Given the description of an element on the screen output the (x, y) to click on. 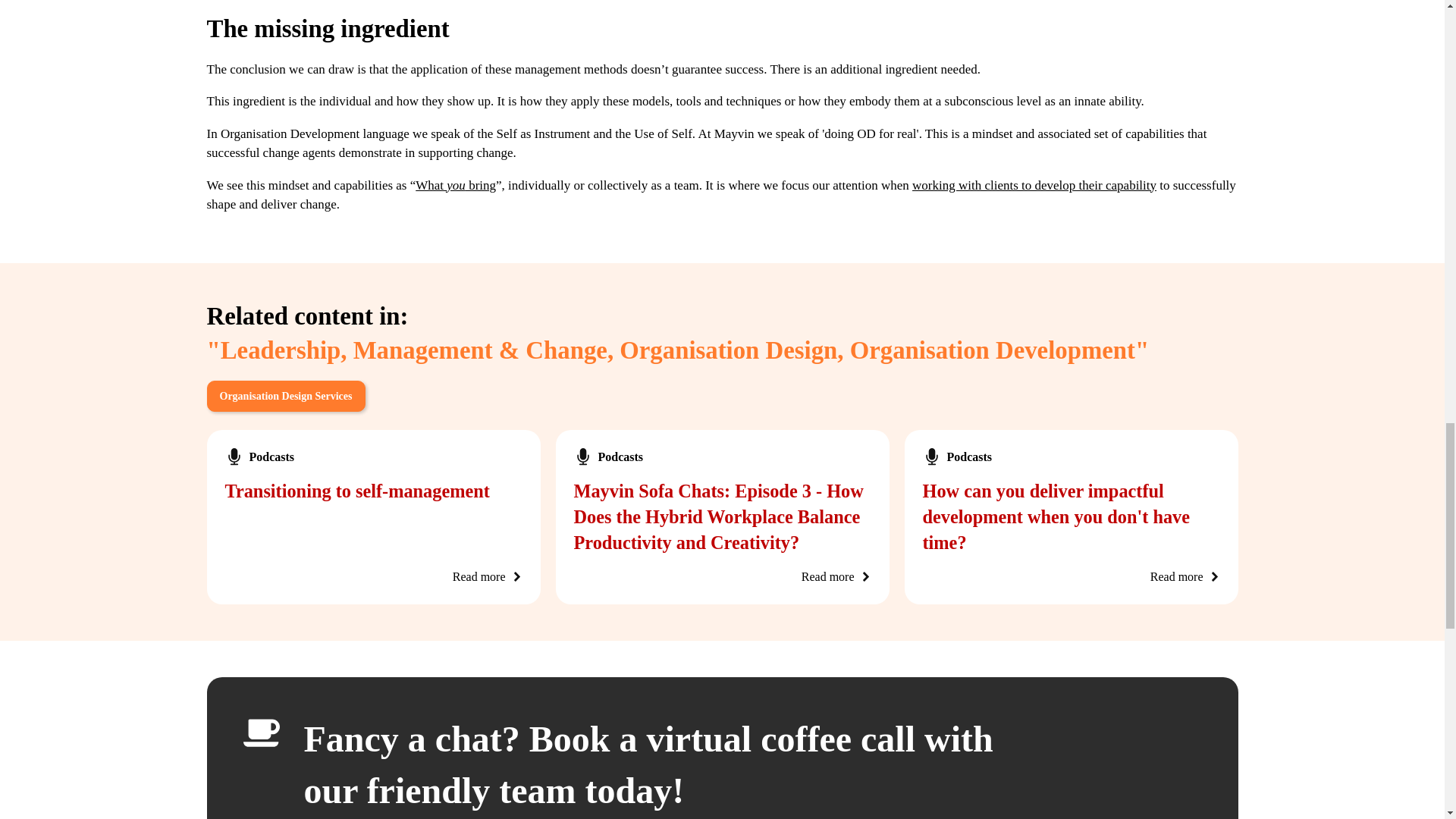
Transitioning to self-management (356, 490)
Organisation Design Services (285, 395)
Organisation Design (728, 349)
What you bring (455, 185)
Organisation Development (992, 349)
Read more (478, 577)
Read more (828, 577)
working with clients to develop their capability (1034, 185)
